Given the description of an element on the screen output the (x, y) to click on. 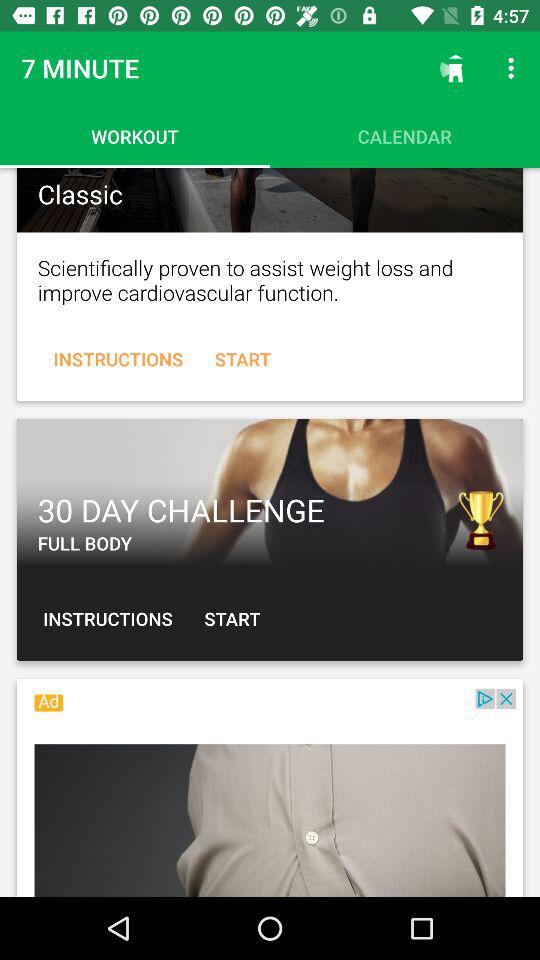
select challenge (269, 492)
